Given the description of an element on the screen output the (x, y) to click on. 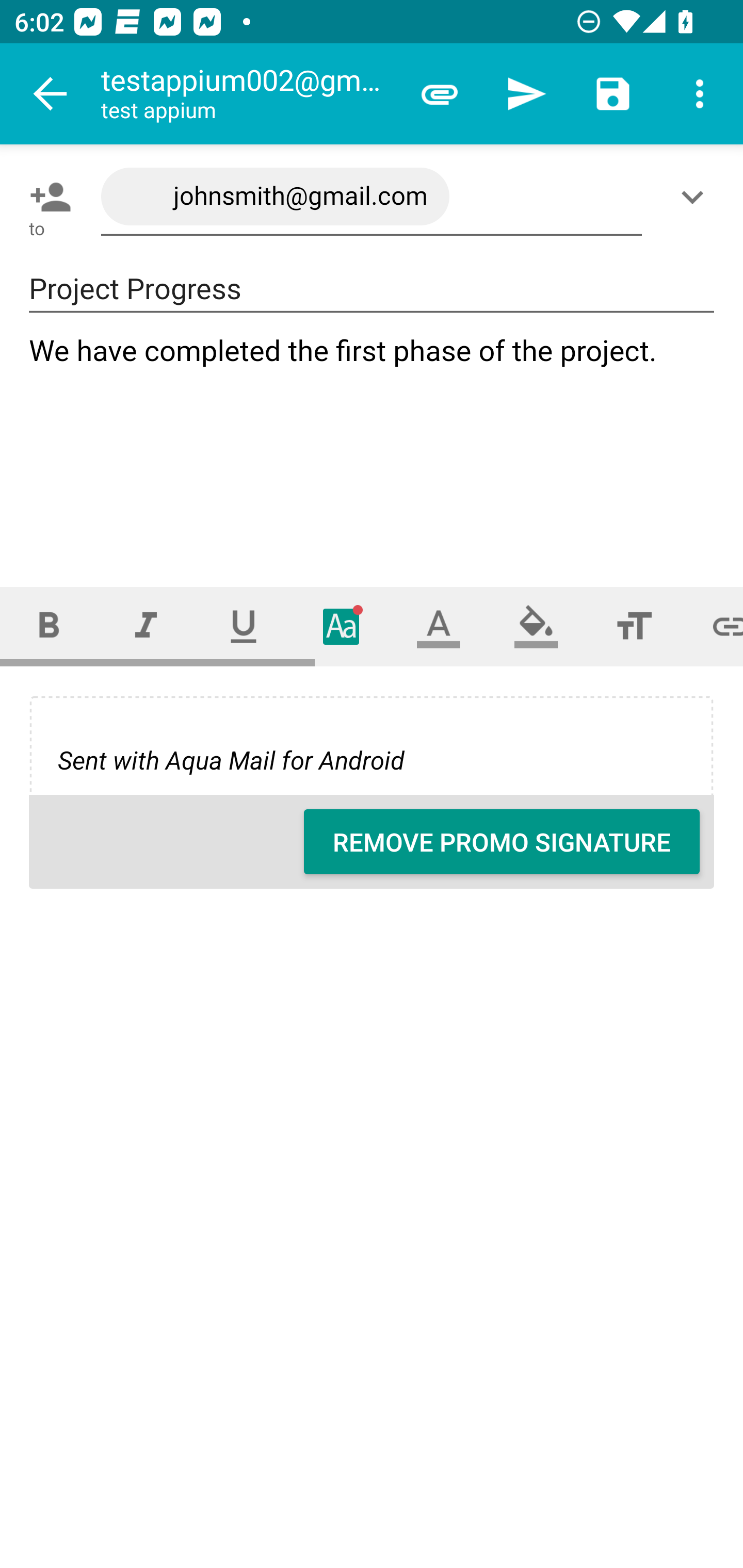
Navigate up (50, 93)
testappium002@gmail.com test appium (248, 93)
Attach (439, 93)
Send (525, 93)
Save (612, 93)
More options (699, 93)
johnsmith@gmail.com,  (371, 197)
Pick contact: To (46, 196)
Show/Add CC/BCC (696, 196)
Project Progress (371, 288)
We have completed the first phase of the project. (372, 442)
Bold (48, 626)
Italic (145, 626)
Underline (243, 626)
Typeface (font) (341, 626)
Text color (438, 626)
Fill color (536, 626)
Font size (633, 626)
REMOVE PROMO SIGNATURE (501, 841)
